Given the description of an element on the screen output the (x, y) to click on. 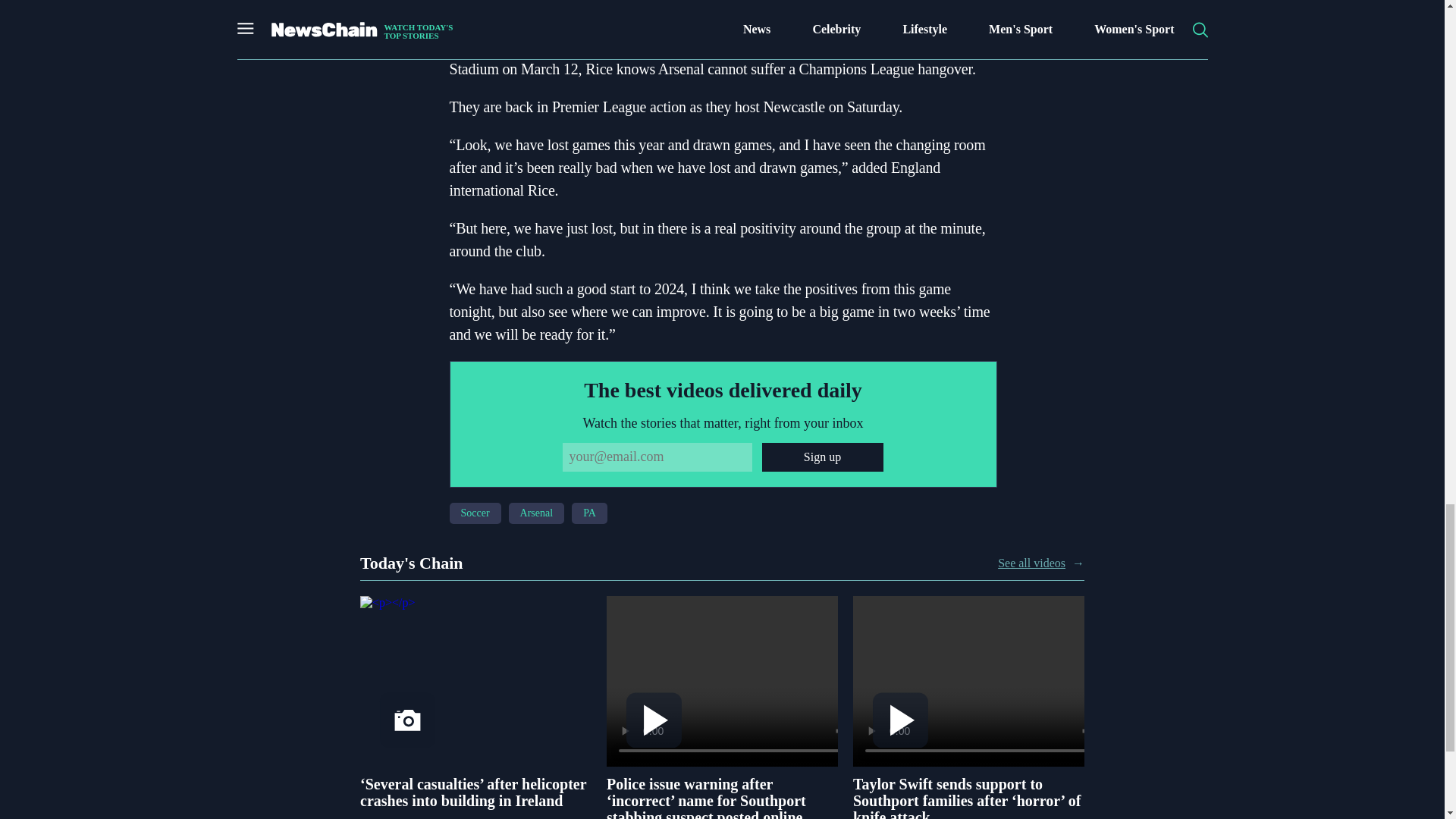
Soccer (474, 513)
PA (589, 513)
Sign up (822, 457)
See all videos (1031, 563)
Sign up (822, 457)
Arsenal (536, 513)
